Given the description of an element on the screen output the (x, y) to click on. 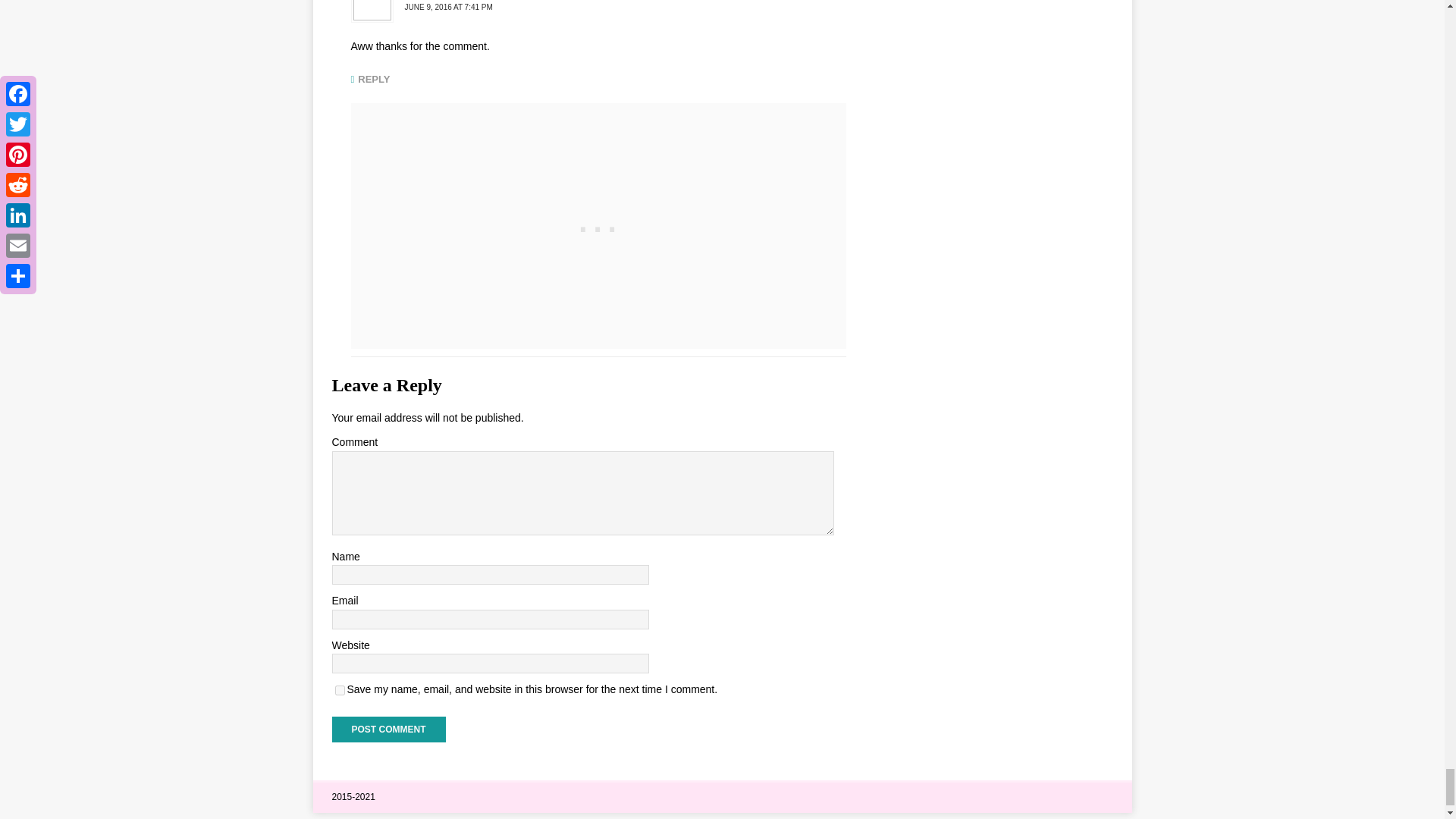
yes (339, 690)
Post Comment (388, 729)
